Given the description of an element on the screen output the (x, y) to click on. 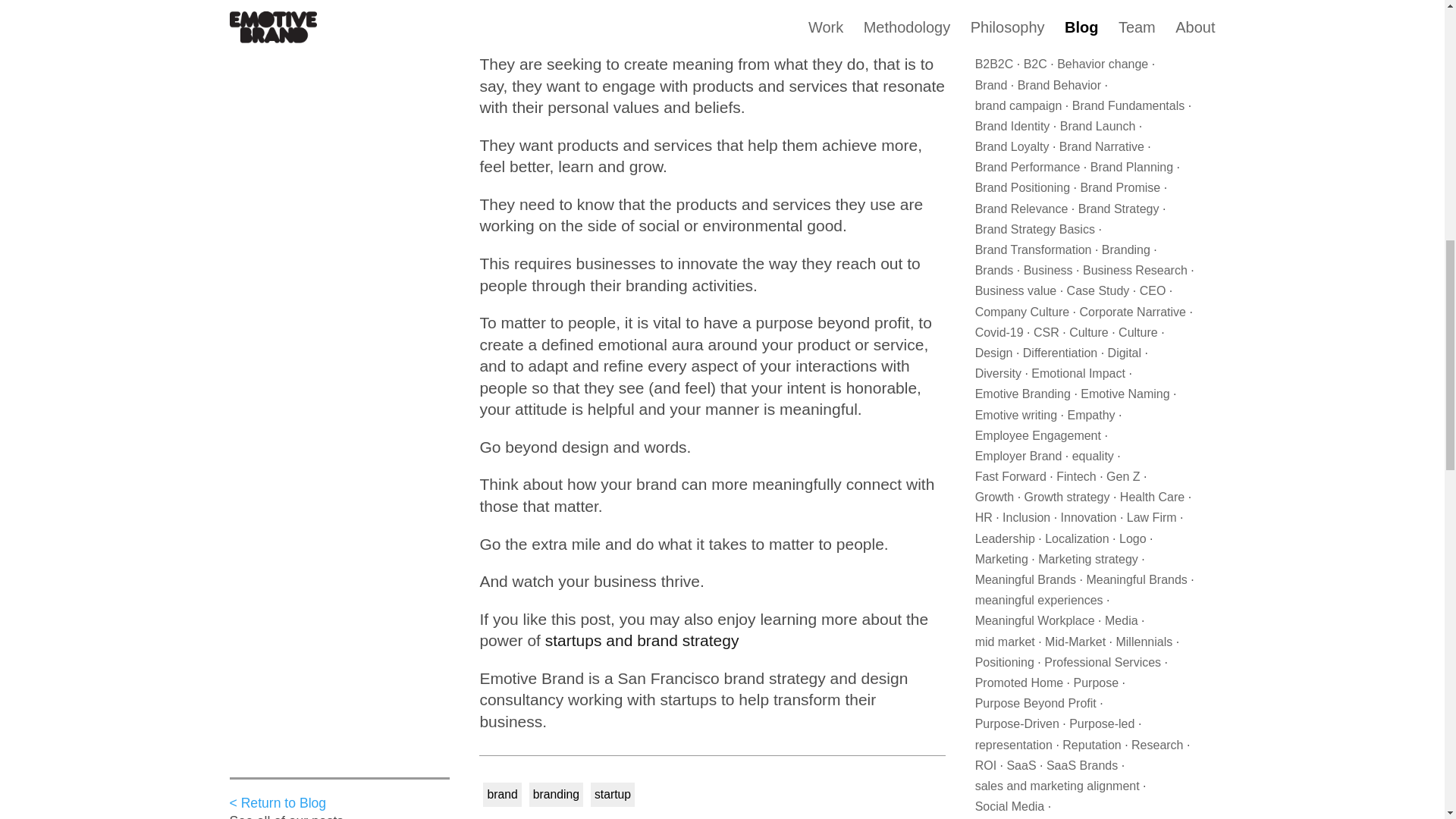
branding (555, 793)
B2B Brands (1132, 42)
B2C (1034, 63)
startups and brand strategy (641, 640)
b2b (1080, 42)
brand (501, 793)
Behavior change (1102, 63)
Age of Meaning (1017, 42)
B2B2C (994, 63)
startup (612, 793)
